Given the description of an element on the screen output the (x, y) to click on. 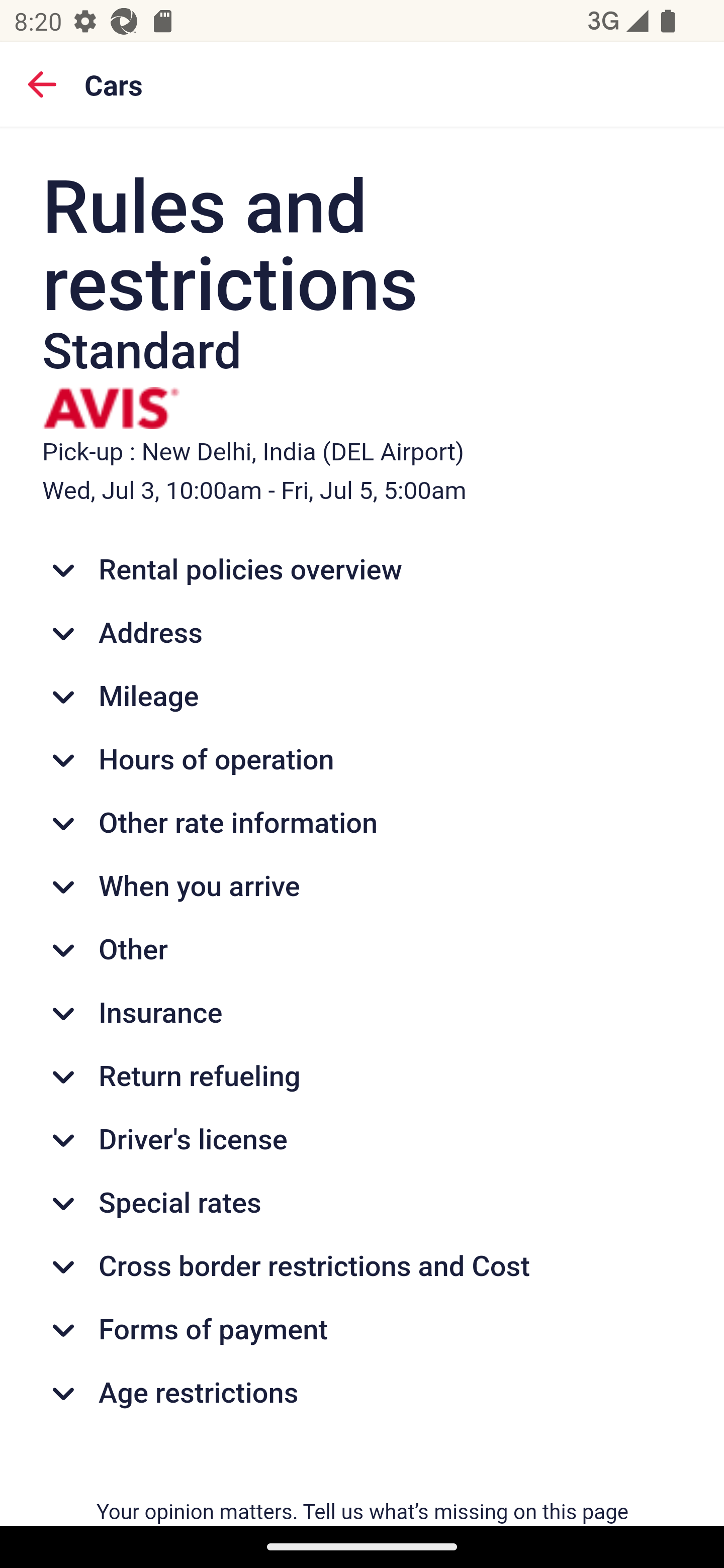
Back (41, 83)
Rental policies overview (362, 569)
Address (362, 632)
Mileage (362, 696)
Hours of operation (362, 760)
Other rate information (362, 823)
When you arrive (362, 887)
Other (362, 950)
Insurance (362, 1013)
Return refueling (362, 1076)
Driver's license (362, 1138)
Special rates (362, 1203)
Cross border restrictions and Cost (362, 1265)
Forms of payment (362, 1330)
Age restrictions (362, 1393)
